Given the description of an element on the screen output the (x, y) to click on. 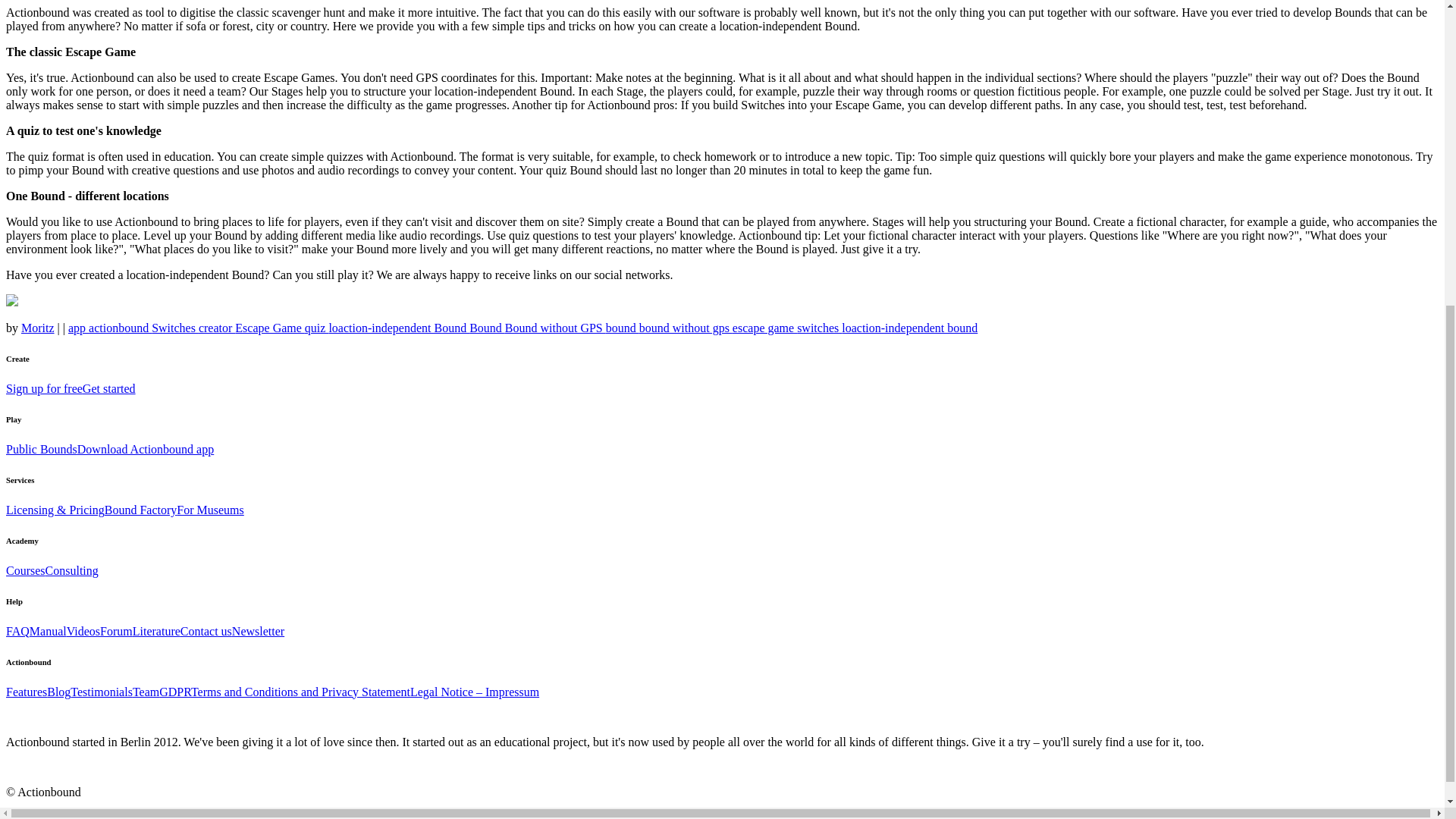
Moritz (38, 327)
